Given the description of an element on the screen output the (x, y) to click on. 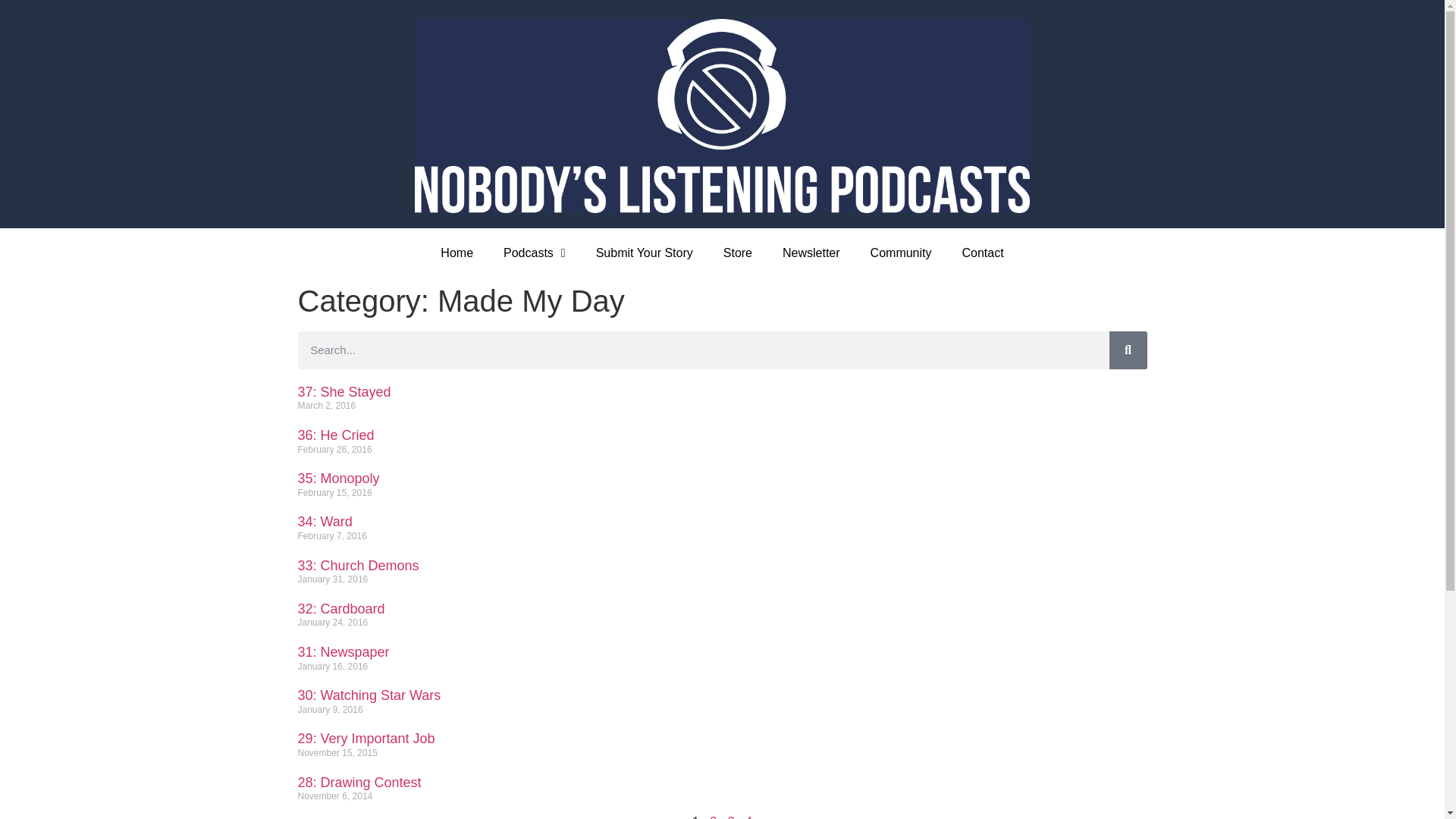
31: Newspaper (342, 652)
Submit Your Story (643, 253)
37: She Stayed (343, 391)
34: Ward (324, 521)
36: He Cried (335, 435)
35: Monopoly (337, 478)
32: Cardboard (340, 608)
29: Very Important Job (365, 738)
Store (737, 253)
Newsletter (811, 253)
Podcasts (533, 253)
Contact (981, 253)
Home (456, 253)
